Given the description of an element on the screen output the (x, y) to click on. 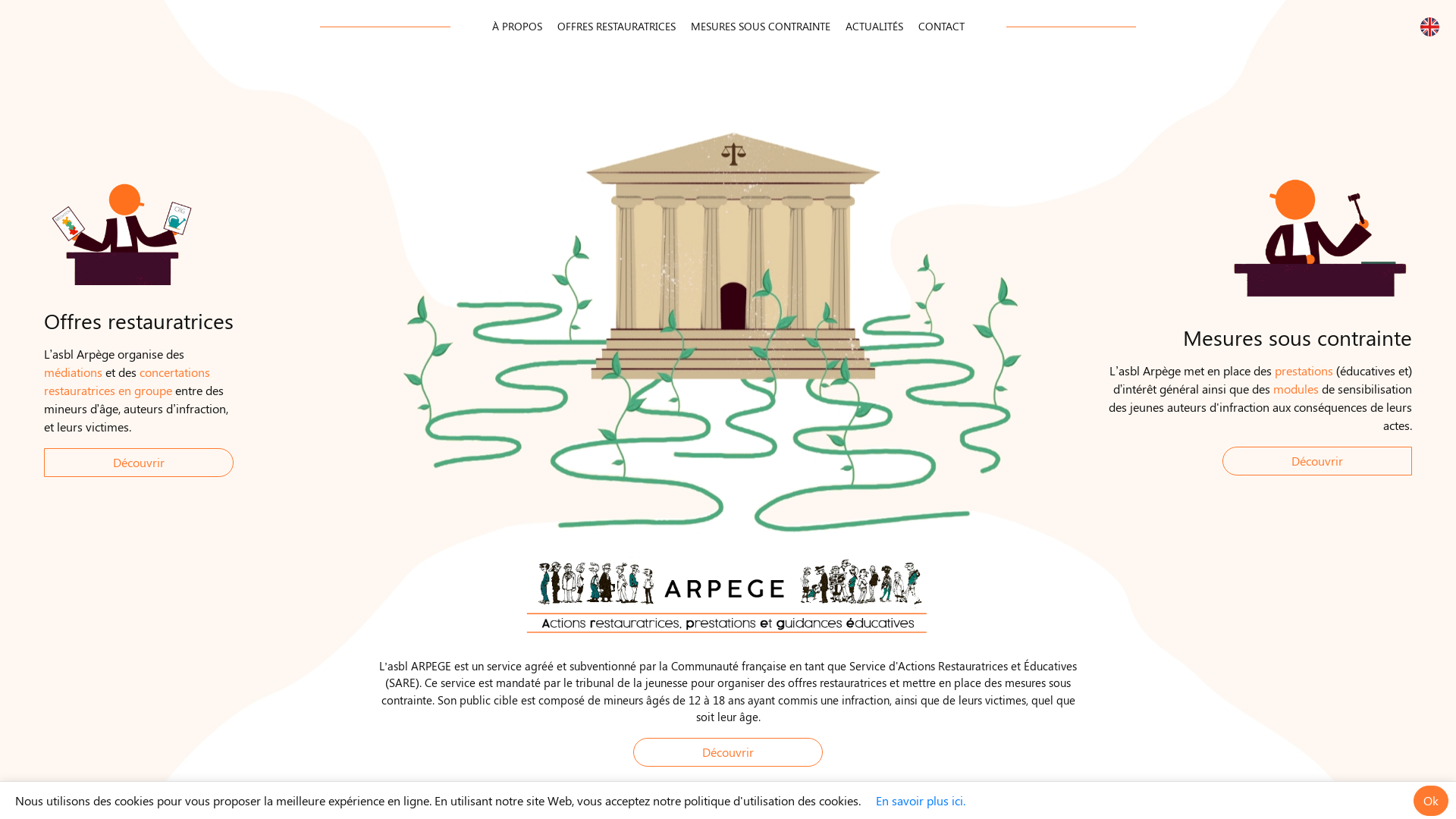
concertations restauratrices en groupe Element type: text (126, 381)
modules Element type: text (1295, 388)
Ok Element type: text (1430, 800)
MESURES SOUS CONTRAINTE Element type: text (759, 26)
OFFRES RESTAURATRICES Element type: text (615, 26)
prestations Element type: text (1303, 370)
CONTACT Element type: text (940, 26)
